Given the description of an element on the screen output the (x, y) to click on. 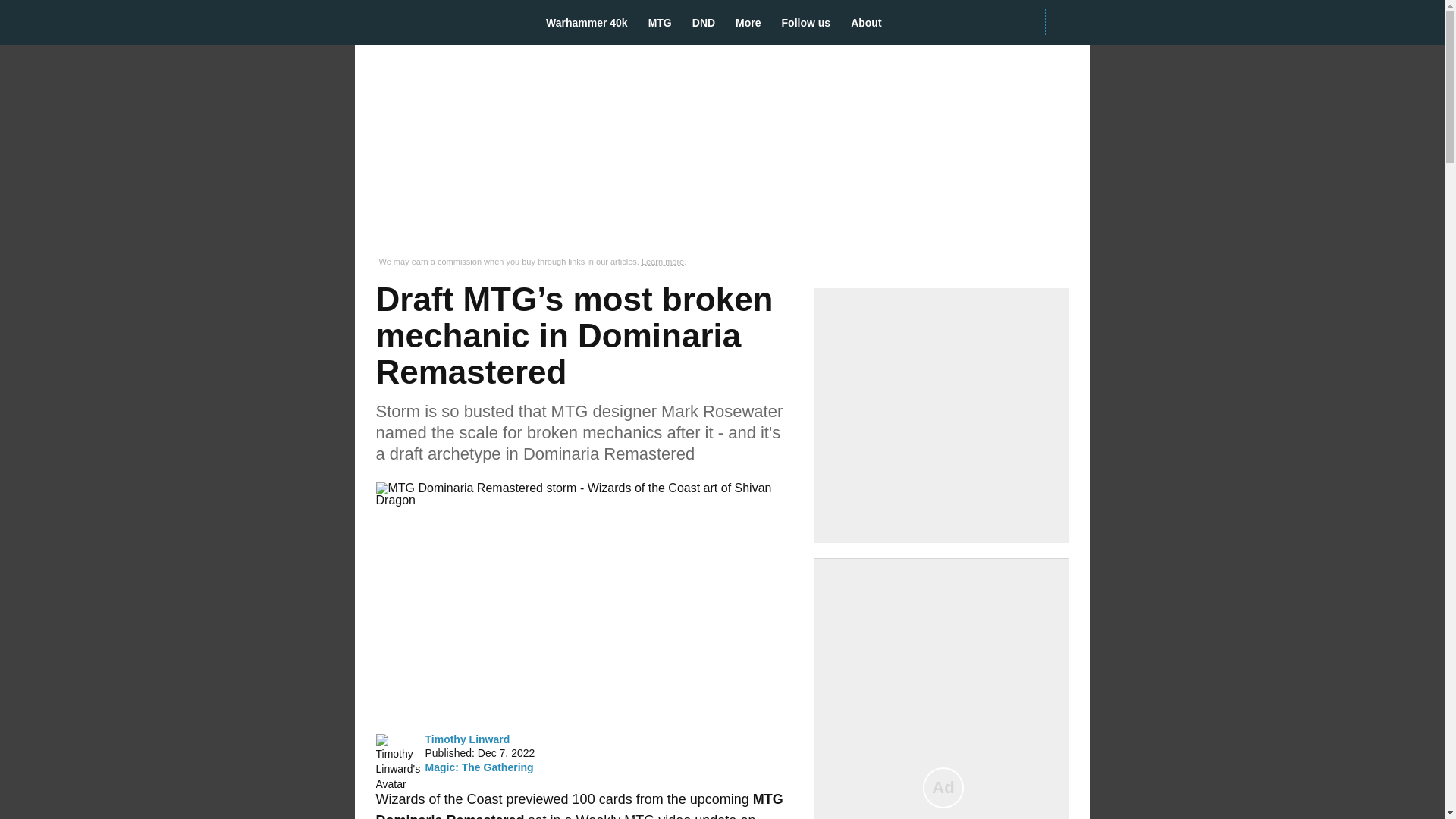
Network N Media (1067, 22)
Follow us (810, 22)
Wargamer (437, 22)
Magic: The Gathering (478, 767)
Timothy Linward (467, 739)
Warhammer 40k (591, 22)
Learn more (663, 261)
